Given the description of an element on the screen output the (x, y) to click on. 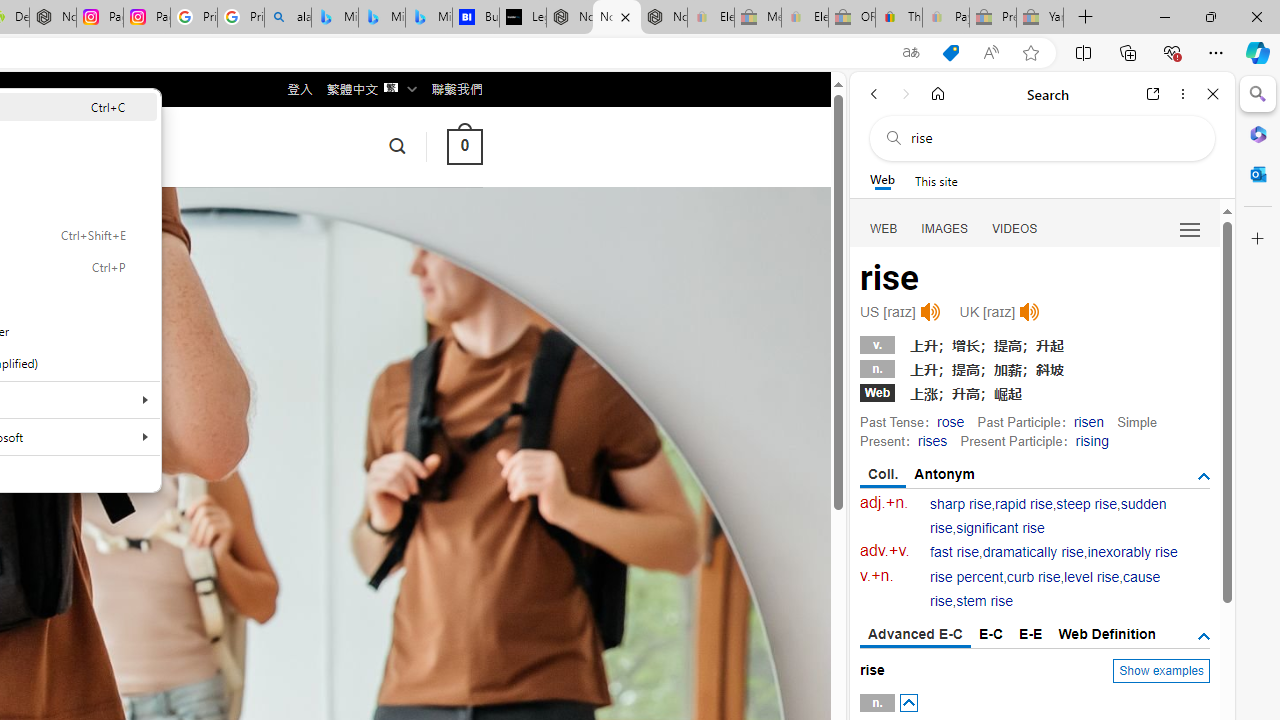
rises (932, 440)
Class: b_serphb (1190, 229)
fast rise (955, 552)
Click to listen (1029, 312)
This site has coupons! Shopping in Microsoft Edge (950, 53)
dramatically rise (1032, 552)
